Given the description of an element on the screen output the (x, y) to click on. 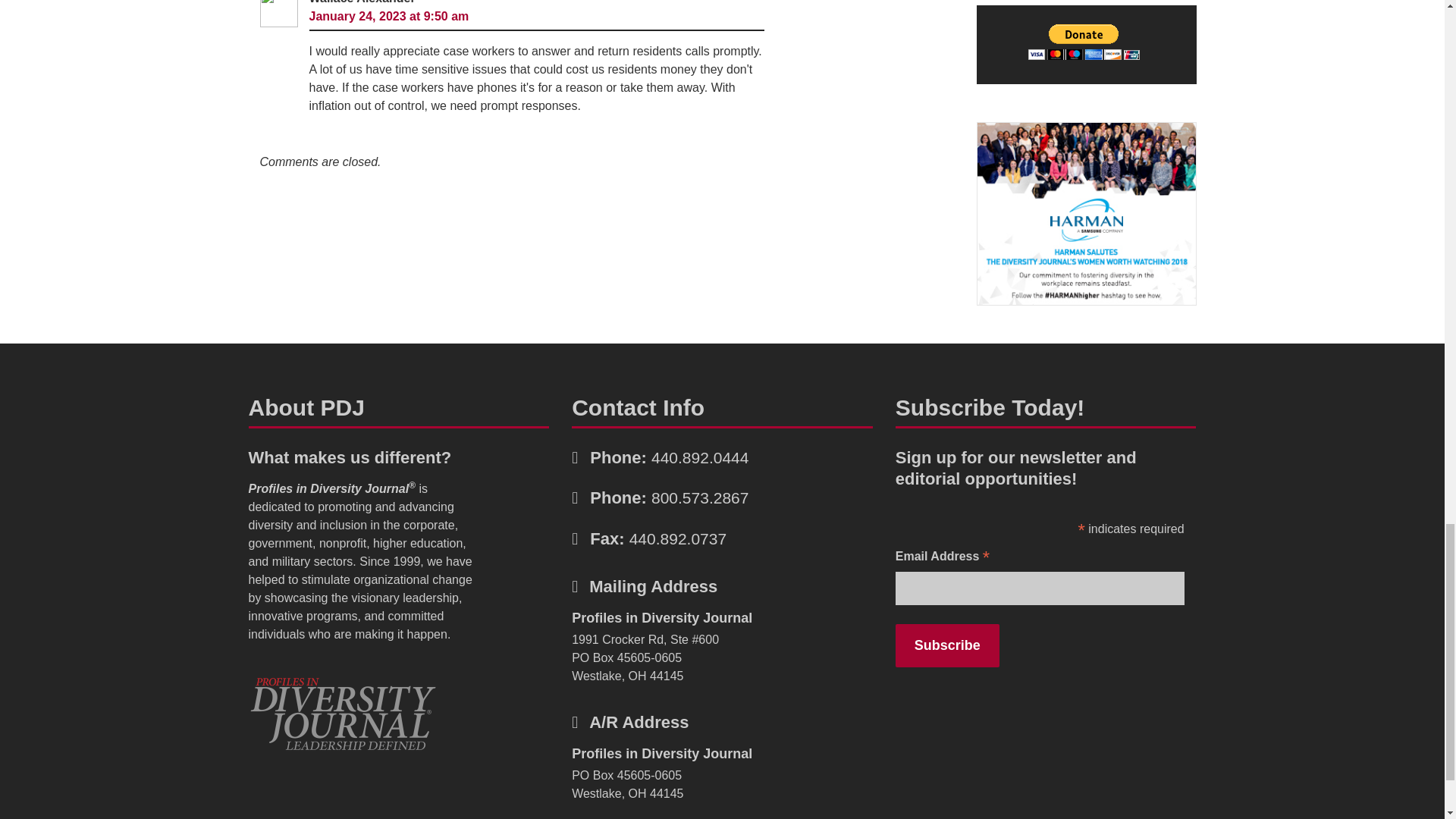
Subscribe (946, 645)
